Given the description of an element on the screen output the (x, y) to click on. 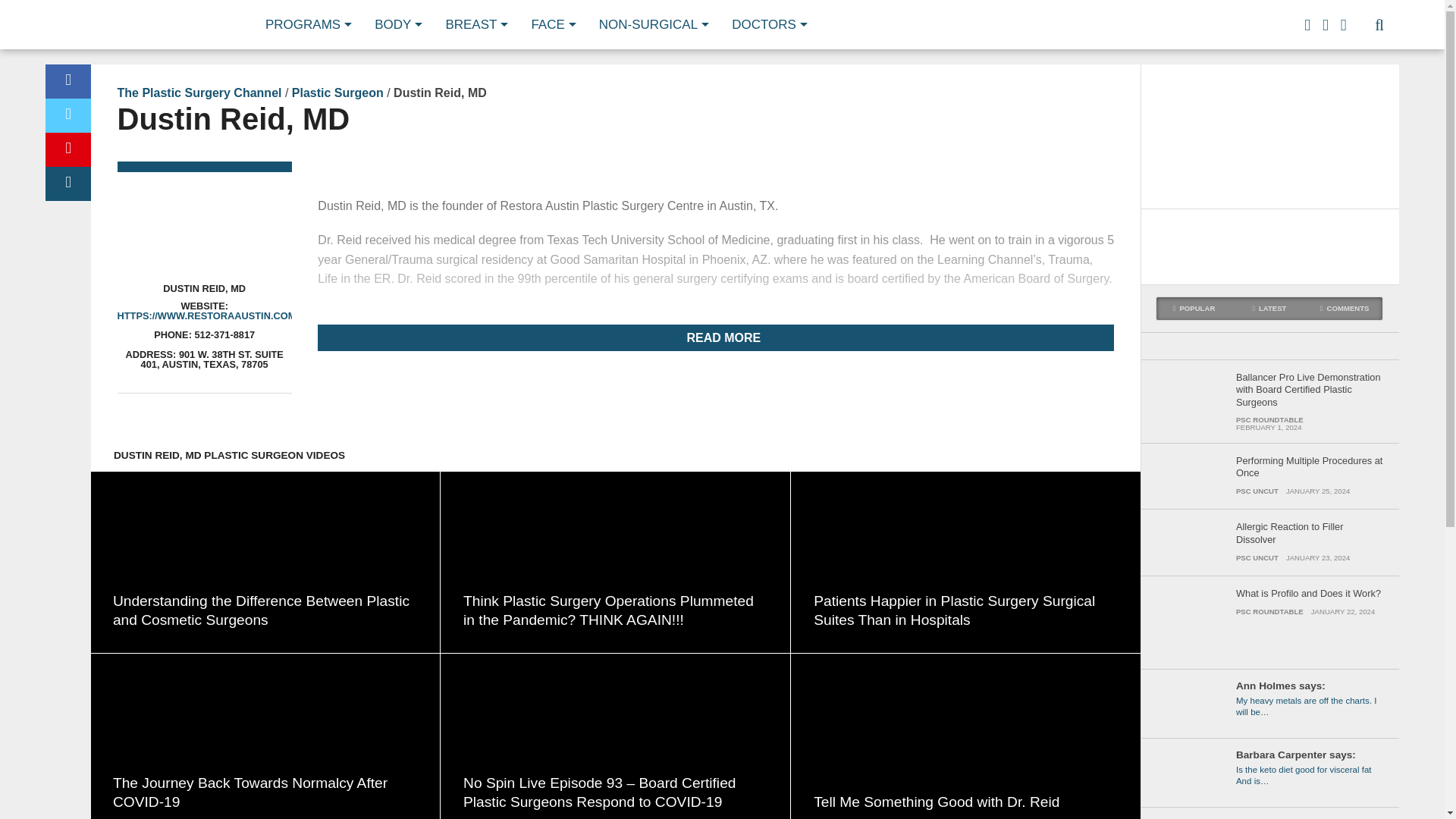
Share on Facebook (67, 81)
Tweet This Post (67, 115)
FACE (549, 24)
Pin This Post (67, 149)
Dustin Reid, MD's Website (207, 315)
BREAST (472, 24)
BODY (394, 24)
PROGRAMS (304, 24)
